Given the description of an element on the screen output the (x, y) to click on. 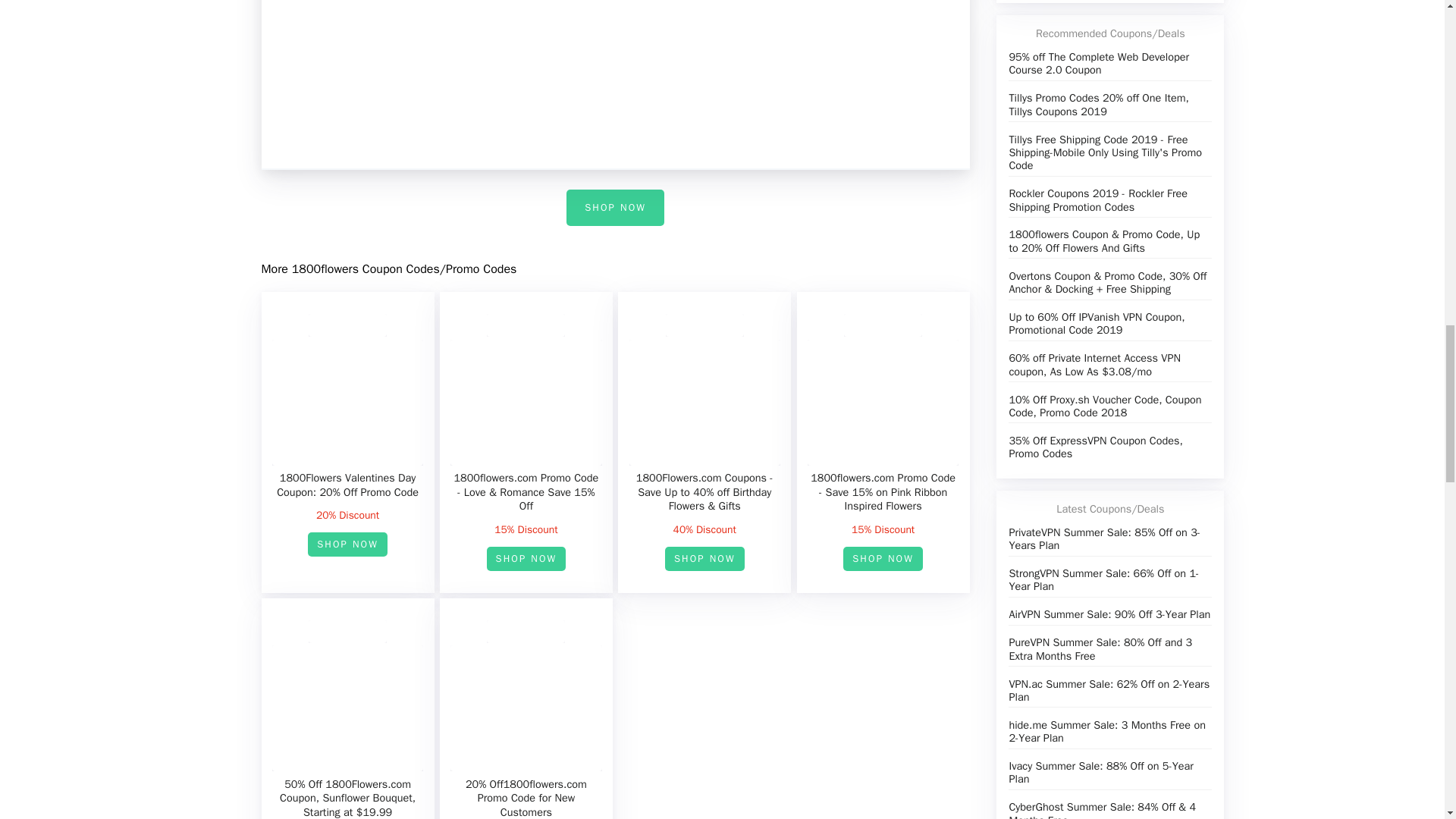
YouTube video (614, 84)
